Given the description of an element on the screen output the (x, y) to click on. 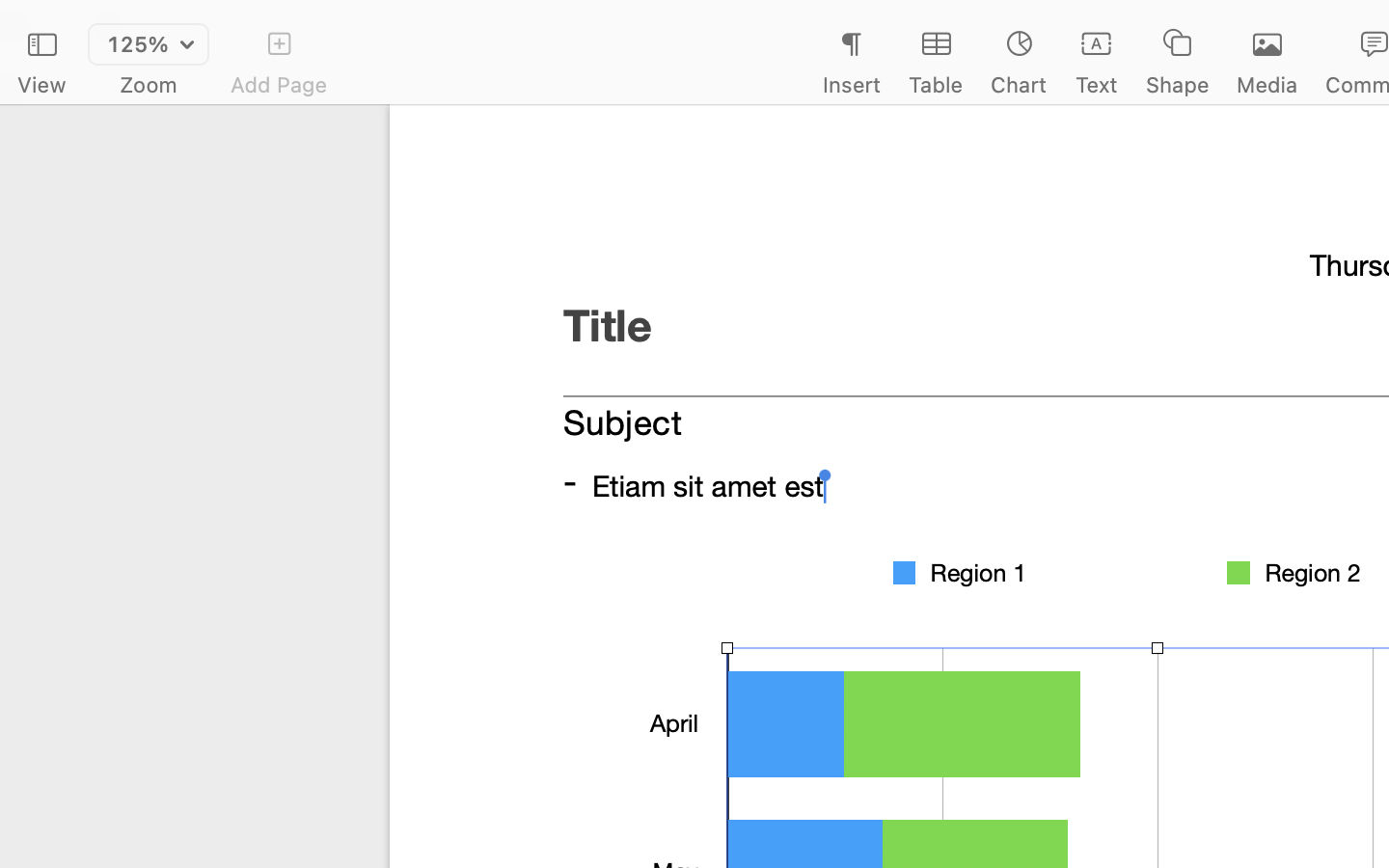
Media Element type: AXStaticText (1267, 84)
Insert Element type: AXStaticText (850, 84)
